Given the description of an element on the screen output the (x, y) to click on. 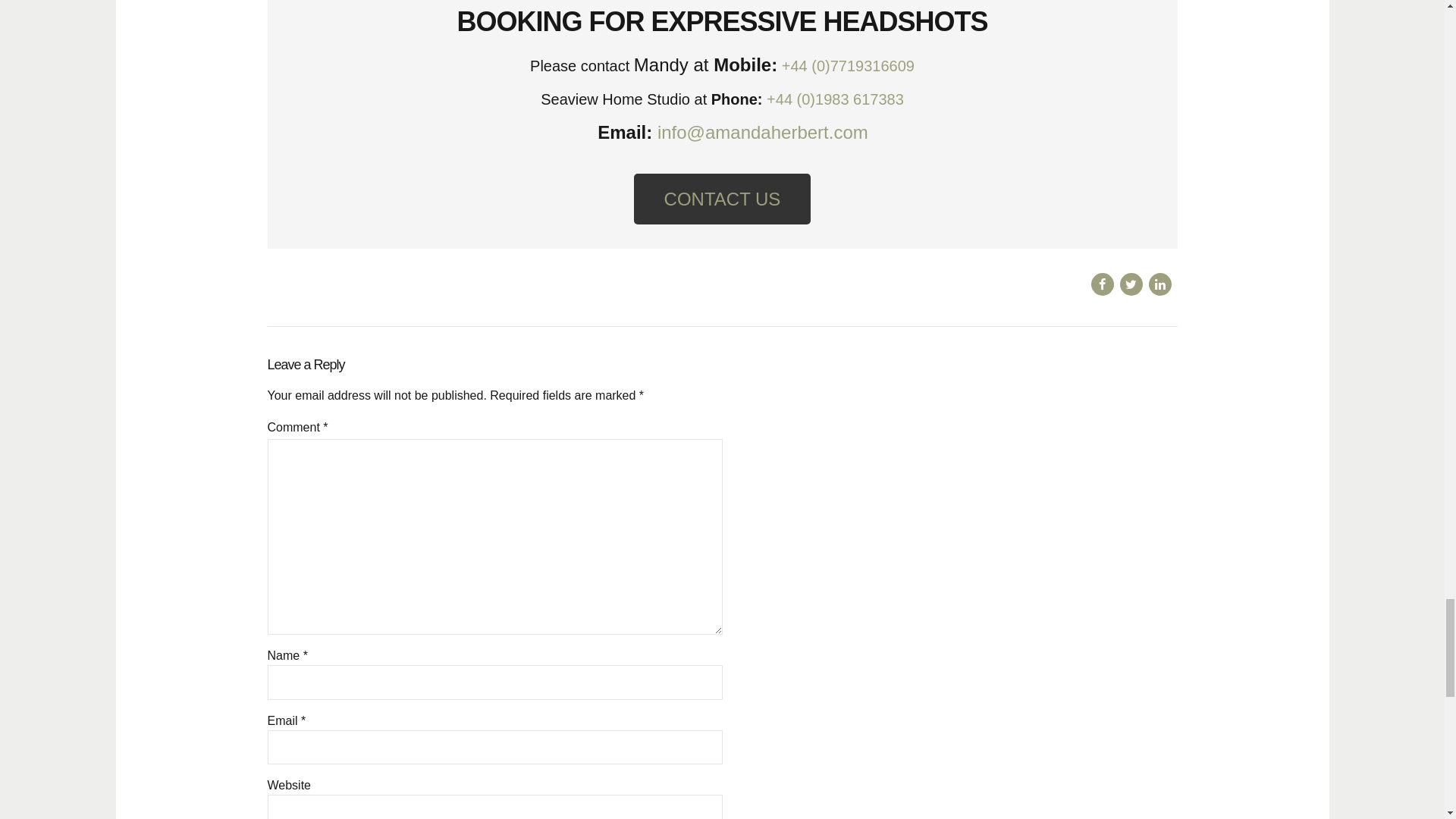
CONTACT US (721, 198)
Share on Linkedin (1159, 283)
Share on Twitter (1130, 283)
Share on Facebook (1101, 283)
